Given the description of an element on the screen output the (x, y) to click on. 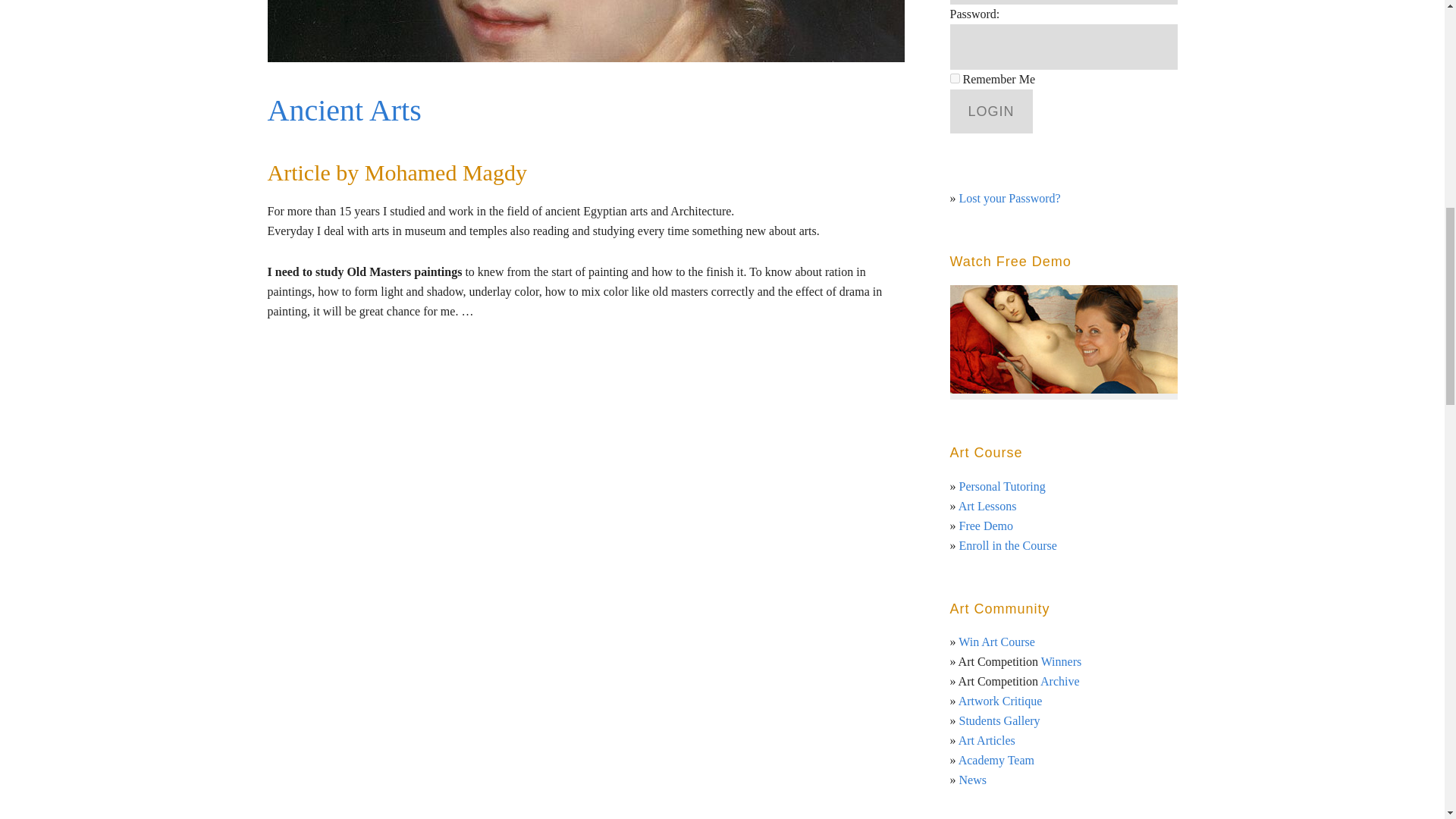
Free Demo (985, 525)
Art Lessons (987, 505)
Lost your Password? (1008, 197)
Ancient Arts (343, 110)
Personal Tutoring (1001, 486)
forever (954, 78)
Login (990, 111)
Login (990, 111)
